Given the description of an element on the screen output the (x, y) to click on. 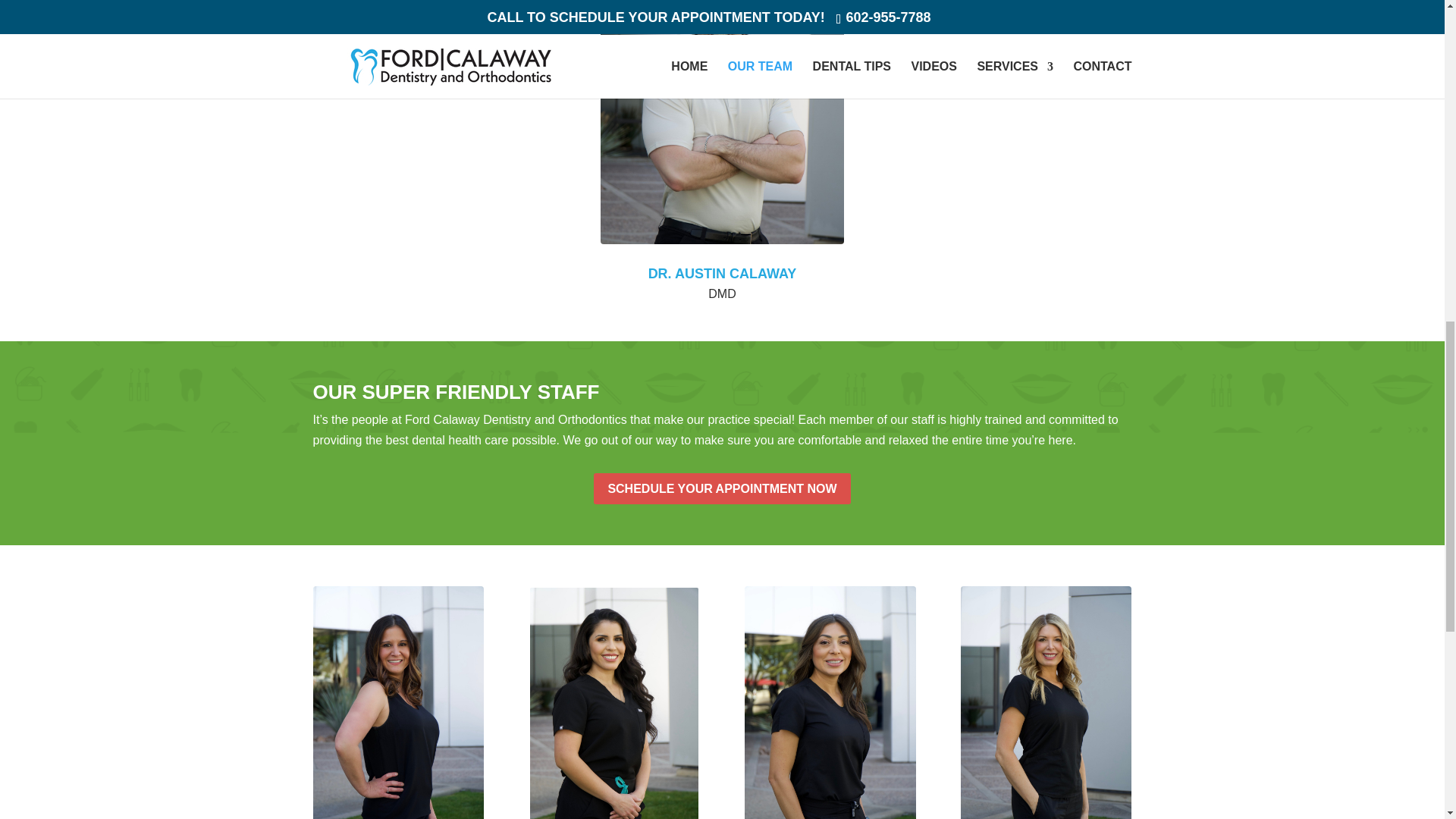
DR. AUSTIN CALAWAY (721, 273)
SCHEDULE YOUR APPOINTMENT NOW (722, 488)
photo mar 22 2024, 10 29 11 am (721, 122)
